Given the description of an element on the screen output the (x, y) to click on. 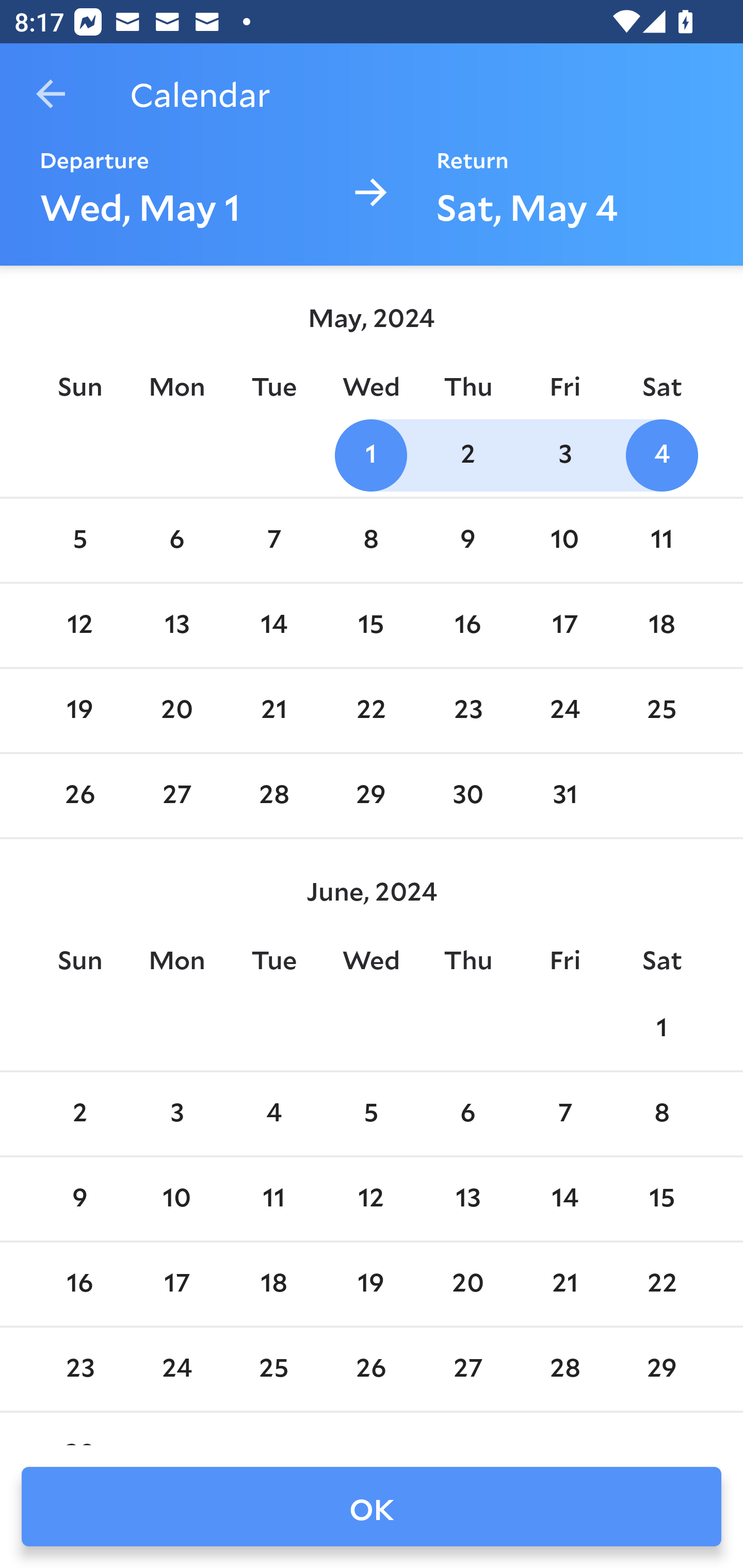
Navigate up (50, 93)
1 (371, 454)
2 (467, 454)
3 (565, 454)
4 (661, 454)
5 (79, 540)
6 (177, 540)
7 (273, 540)
8 (371, 540)
9 (467, 540)
10 (565, 540)
11 (661, 540)
12 (79, 625)
13 (177, 625)
14 (273, 625)
15 (371, 625)
16 (467, 625)
17 (565, 625)
18 (661, 625)
19 (79, 710)
20 (177, 710)
21 (273, 710)
22 (371, 710)
23 (467, 710)
24 (565, 710)
25 (661, 710)
26 (79, 796)
27 (177, 796)
28 (273, 796)
29 (371, 796)
30 (467, 796)
31 (565, 796)
1 (661, 1028)
2 (79, 1114)
3 (177, 1114)
4 (273, 1114)
5 (371, 1114)
6 (467, 1114)
7 (565, 1114)
8 (661, 1114)
9 (79, 1199)
10 (177, 1199)
11 (273, 1199)
12 (371, 1199)
13 (467, 1199)
14 (565, 1199)
15 (661, 1199)
16 (79, 1284)
17 (177, 1284)
18 (273, 1284)
